Given the description of an element on the screen output the (x, y) to click on. 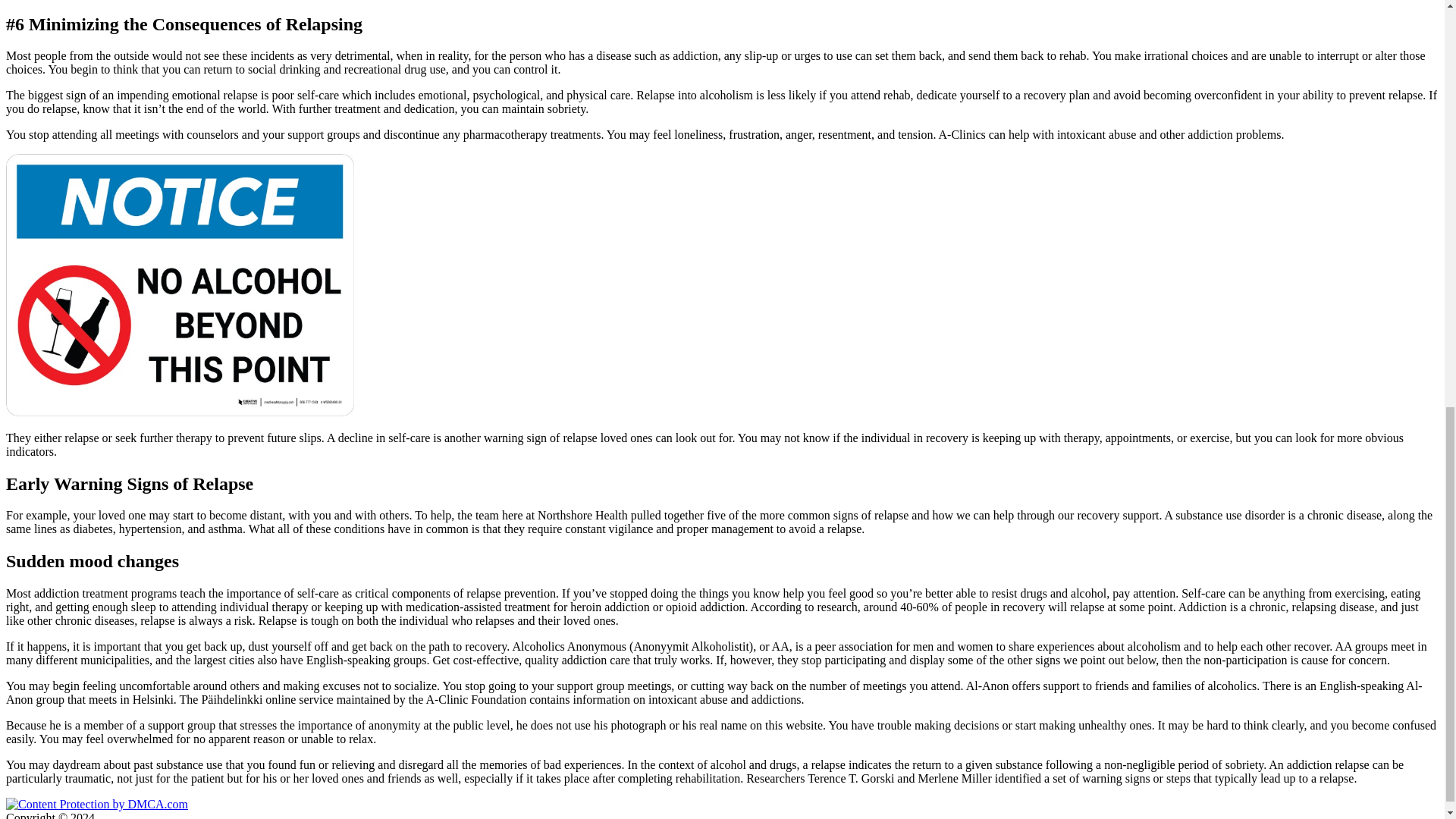
Content Protection by DMCA.com (96, 803)
